Given the description of an element on the screen output the (x, y) to click on. 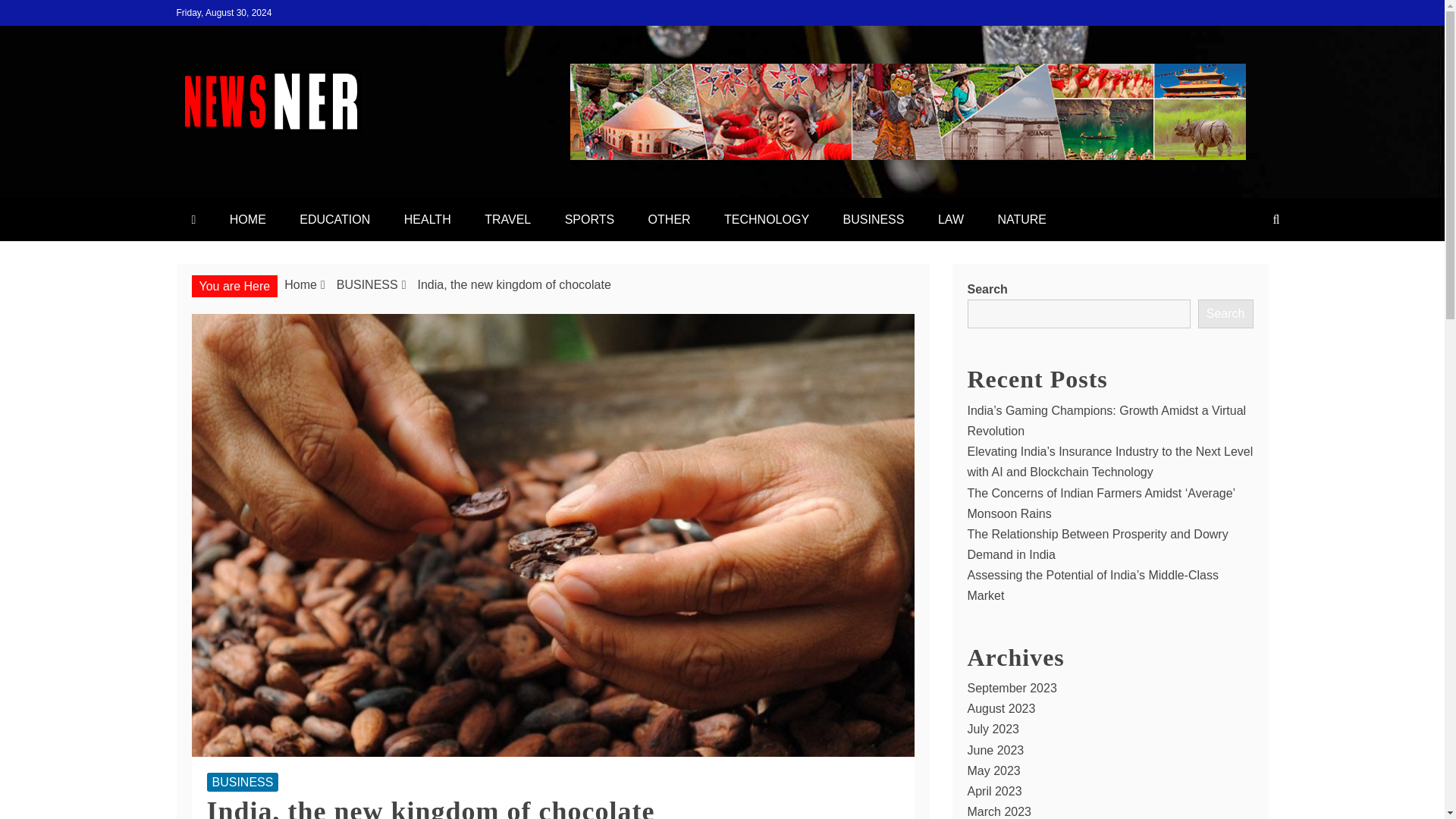
TRAVEL (507, 219)
LAW (950, 219)
Search (1225, 313)
HEALTH (426, 219)
HOME (247, 219)
BUSINESS (242, 782)
BUSINESS (366, 284)
SPORTS (590, 219)
TECHNOLOGY (766, 219)
NEWSNER (274, 169)
